Given the description of an element on the screen output the (x, y) to click on. 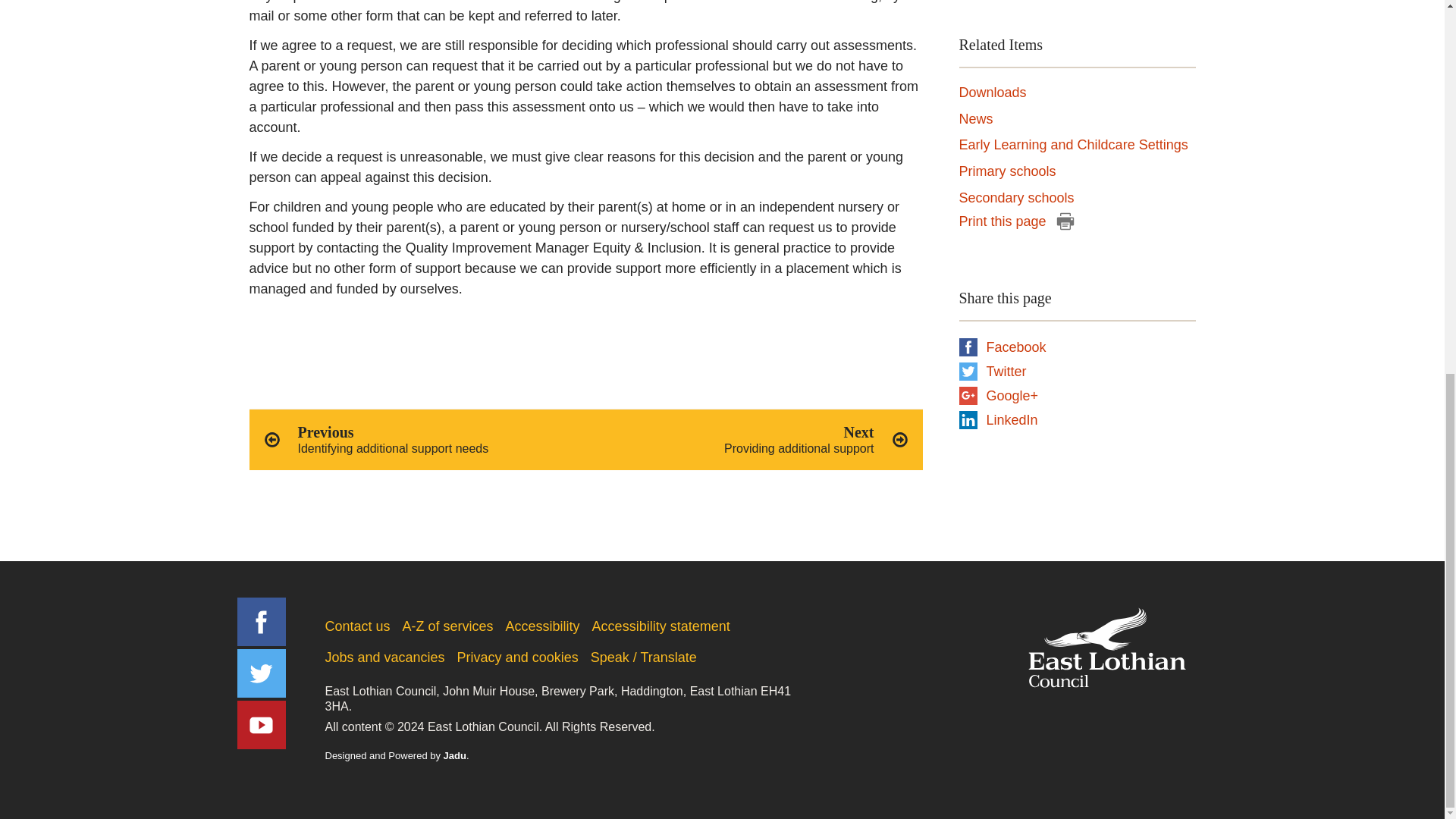
Homepage Link: East Lothian Council (1106, 647)
Find us on Facebook (260, 621)
Watch our YouTube Channel (412, 439)
Follow us on Twitter (758, 439)
